Given the description of an element on the screen output the (x, y) to click on. 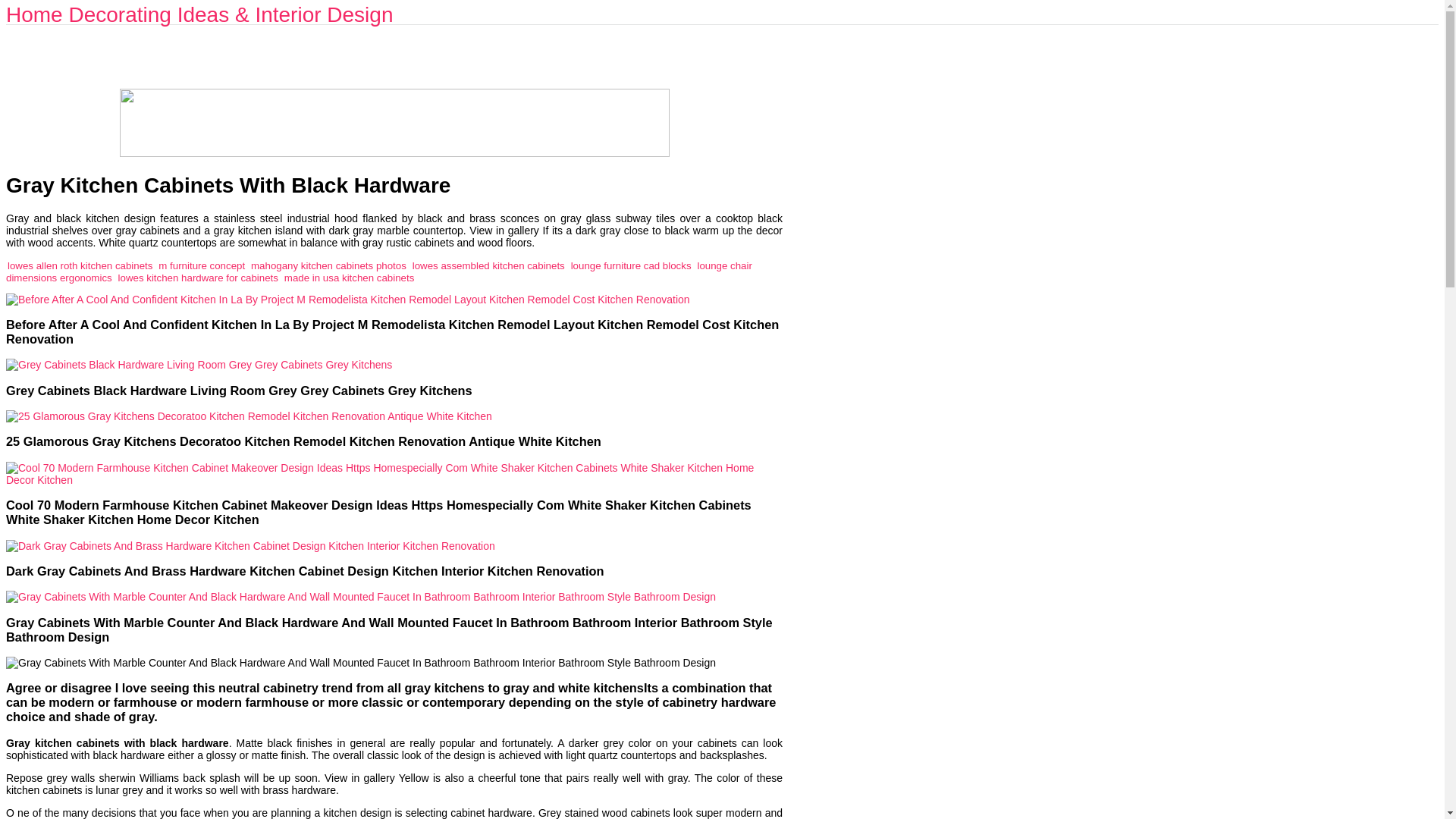
lounge chair dimensions ergonomics (378, 270)
lounge furniture cad blocks (630, 265)
lowes kitchen hardware for cabinets (197, 276)
made in usa kitchen cabinets (348, 276)
mahogany kitchen cabinets photos (328, 265)
m furniture concept (201, 265)
lowes assembled kitchen cabinets (488, 265)
lowes allen roth kitchen cabinets (79, 265)
